Given the description of an element on the screen output the (x, y) to click on. 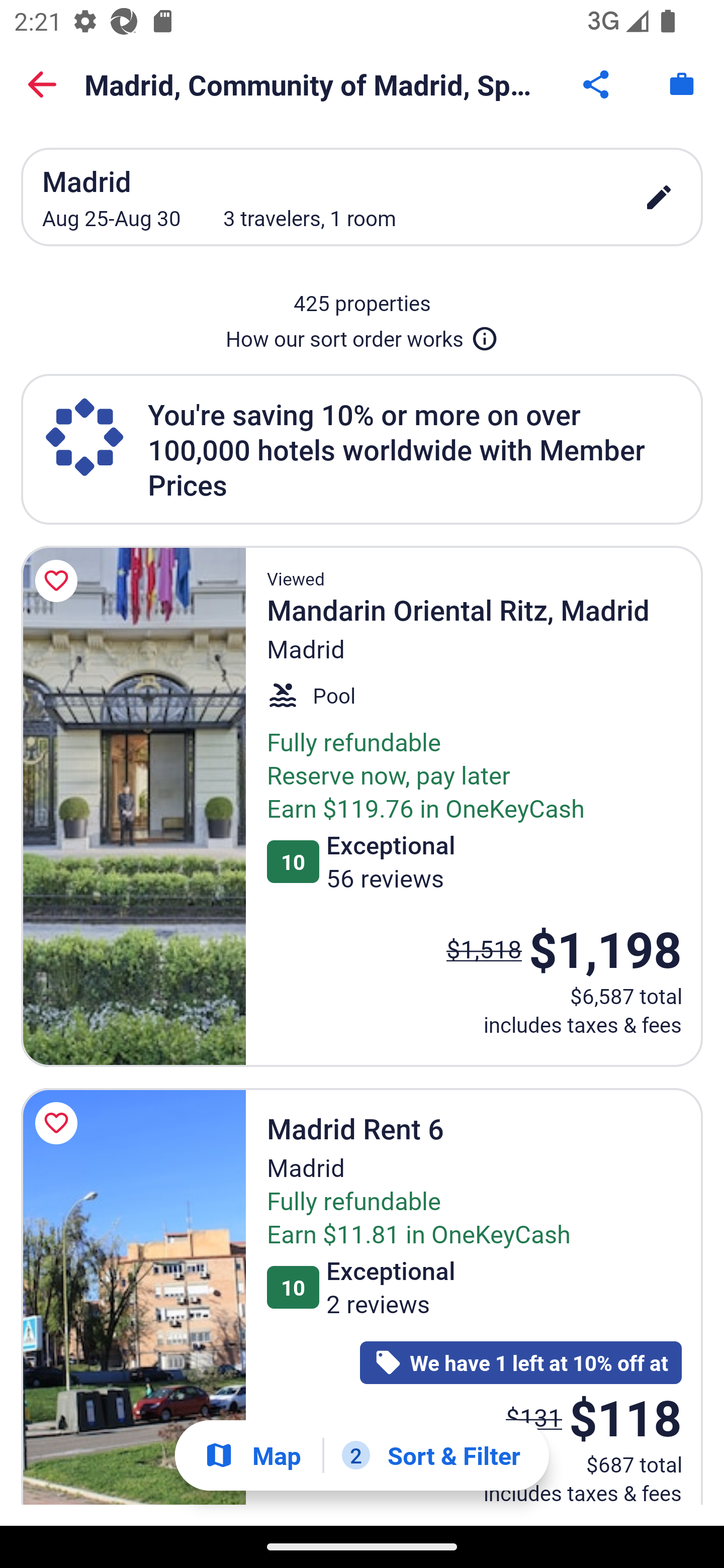
Back (42, 84)
Share Button (597, 84)
Trips. Button (681, 84)
Madrid Aug 25-Aug 30 3 travelers, 1 room edit (361, 196)
How our sort order works (361, 334)
Save Mandarin Oriental Ritz, Madrid to a trip (59, 580)
Mandarin Oriental Ritz, Madrid (133, 805)
$1,518 The price was $1,518 (483, 948)
Save Madrid Rent 6 to a trip (59, 1122)
Madrid Rent 6 (133, 1296)
2 Sort & Filter 2 Filters applied. Filters Button (430, 1455)
Show map Map Show map Button (252, 1455)
